Given the description of an element on the screen output the (x, y) to click on. 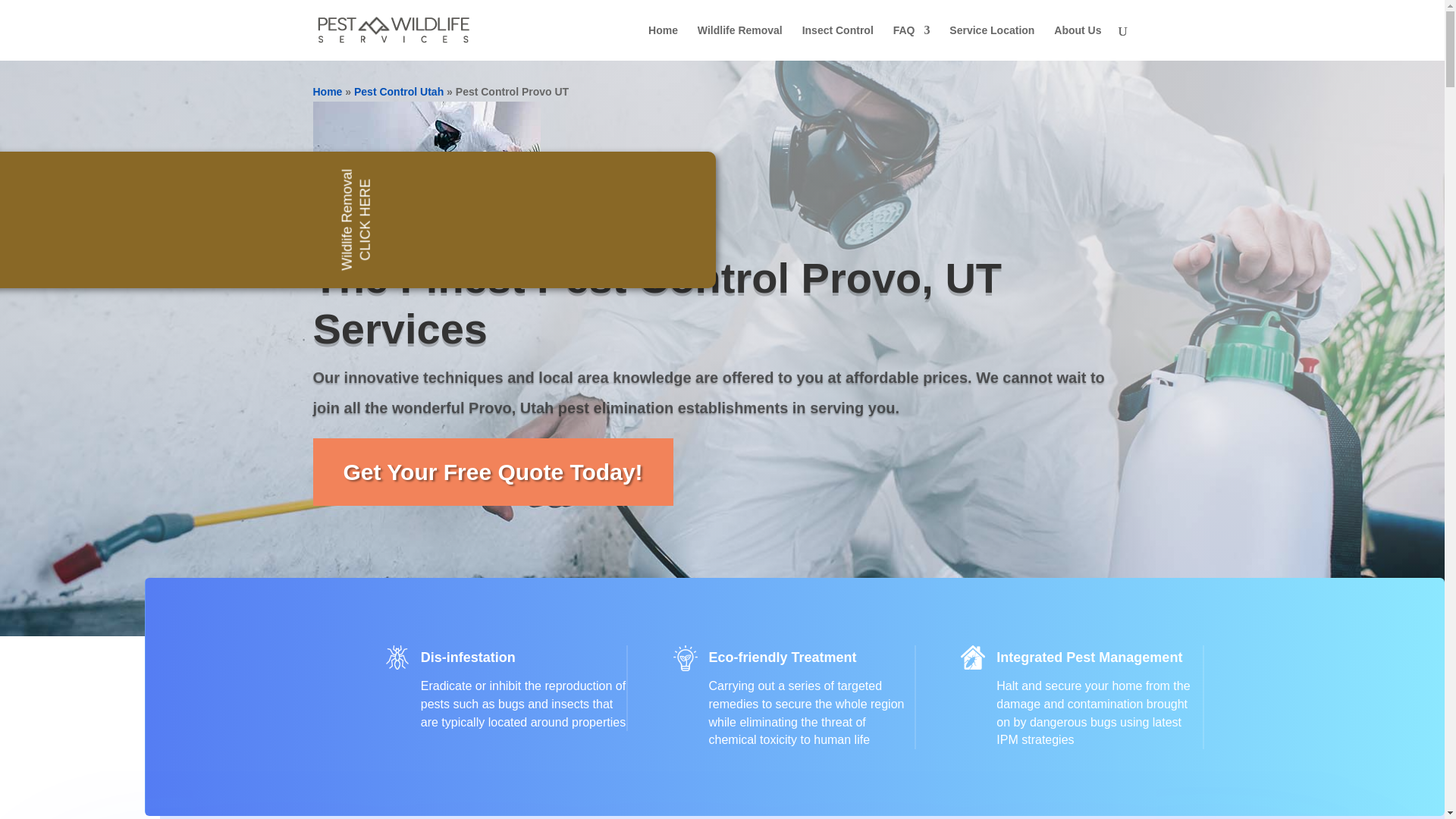
Wildlife Removal (740, 42)
FAQ (911, 42)
Insect Control (837, 42)
About Us (1077, 42)
Get Your Free Quote Today! (492, 472)
Service Location (991, 42)
Home (327, 91)
Pest Control Utah (398, 91)
